Given the description of an element on the screen output the (x, y) to click on. 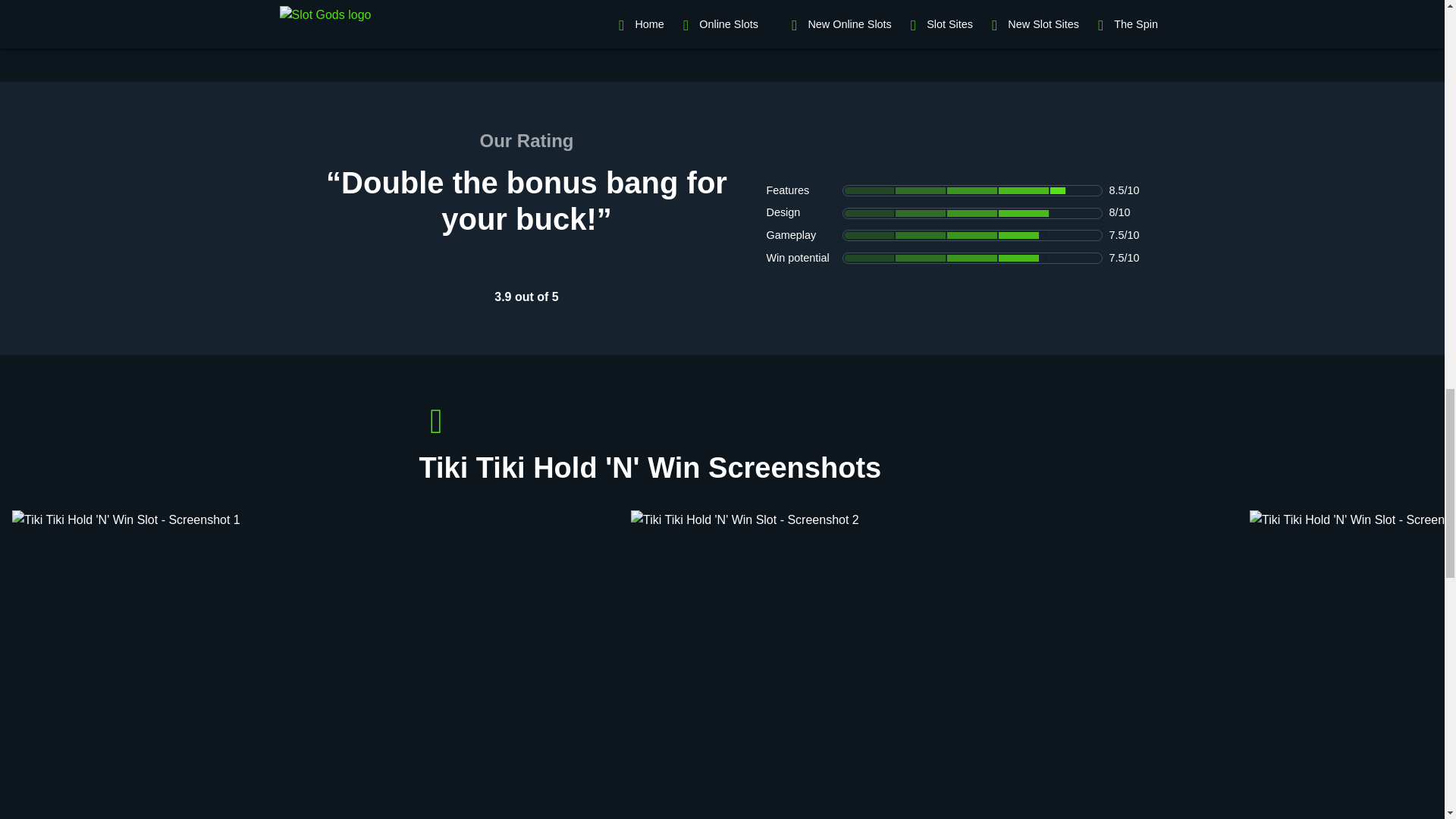
8 out of 10 (971, 213)
7.5 out of 10 (971, 257)
3.9 out of 5 (525, 261)
7.5 out of 10 (971, 235)
8.5 out of 10 (971, 190)
